Given the description of an element on the screen output the (x, y) to click on. 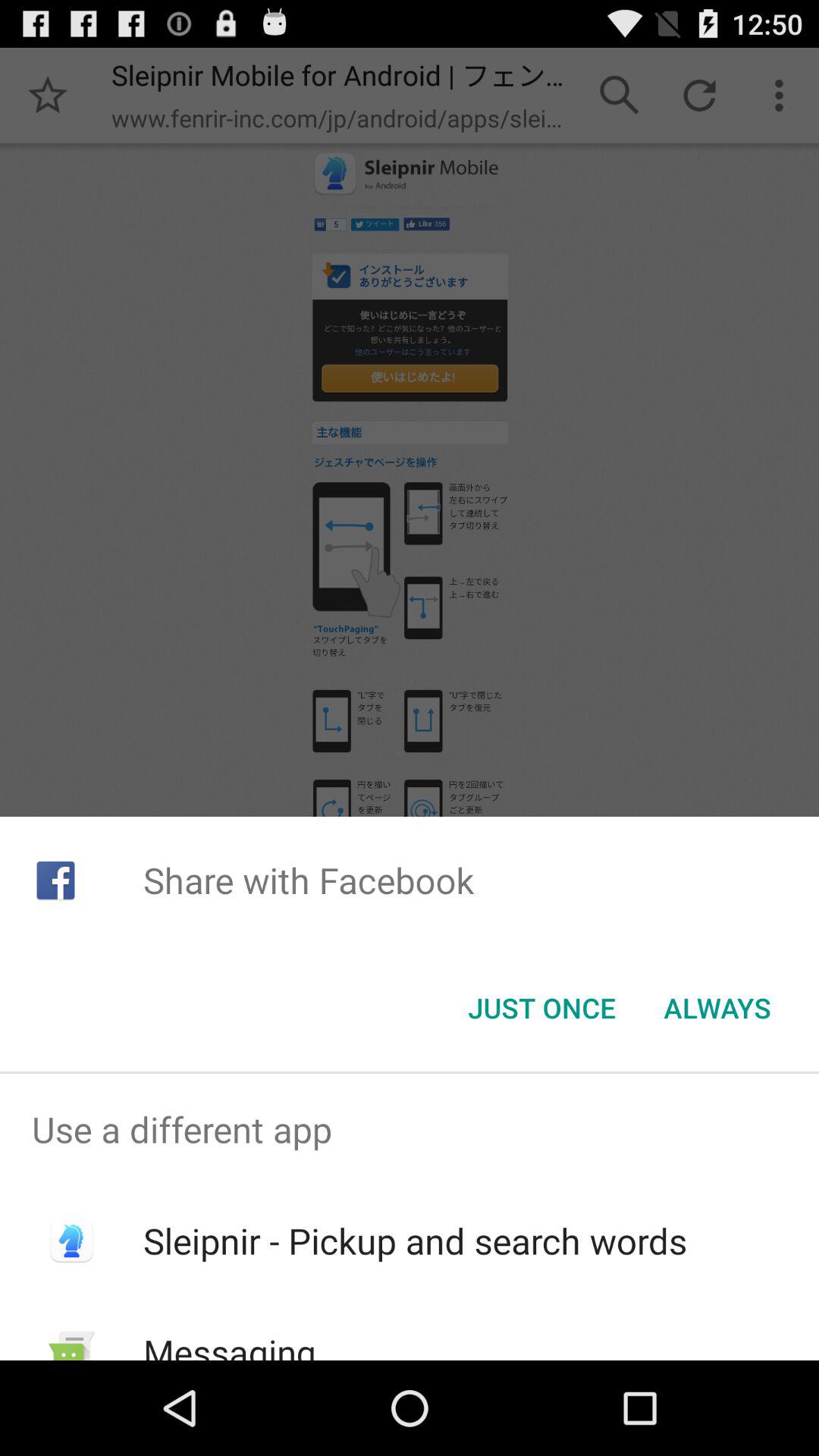
press the button to the left of always button (541, 1007)
